Given the description of an element on the screen output the (x, y) to click on. 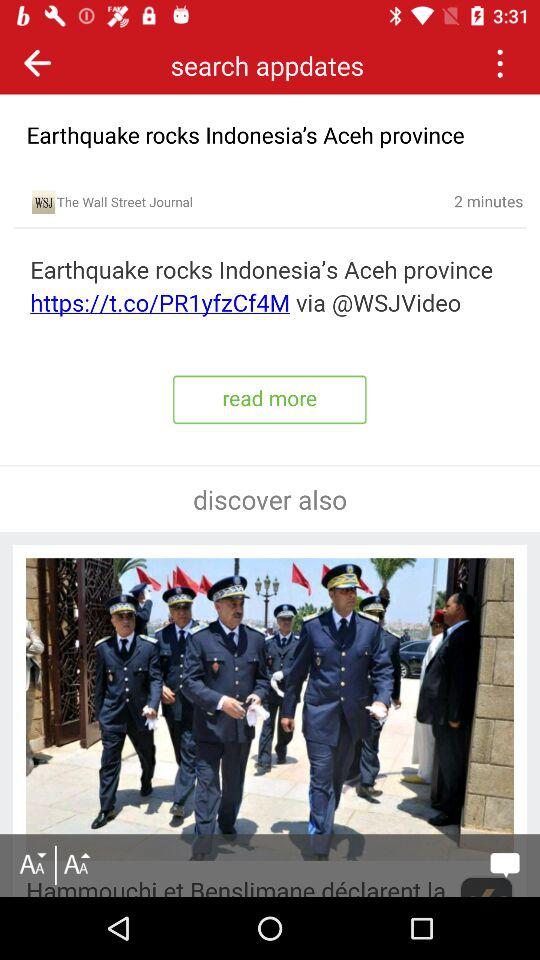
type your message (504, 865)
